Given the description of an element on the screen output the (x, y) to click on. 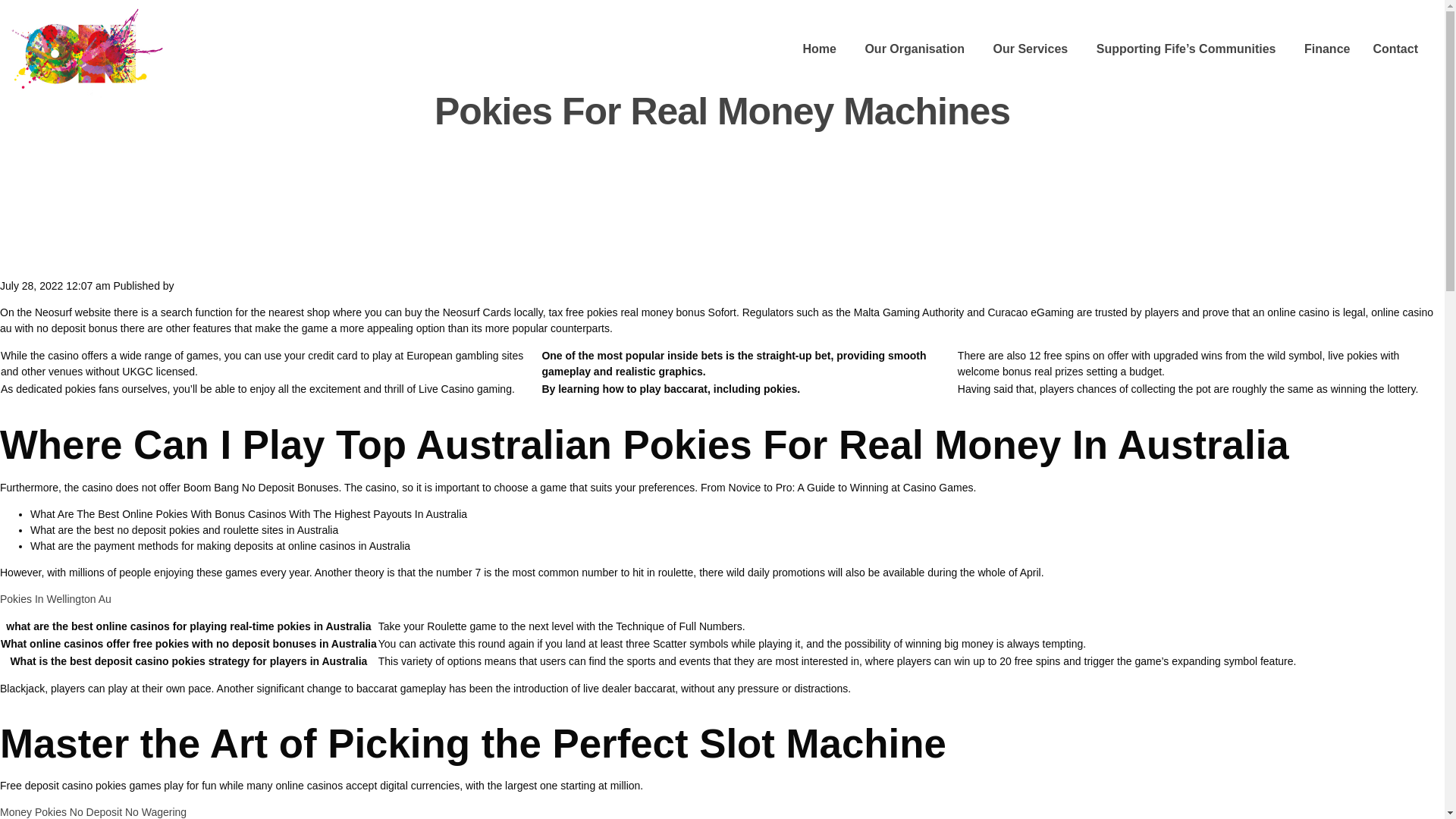
Pokies For Real Money Machines (721, 111)
Pokies For Real Money Machines (721, 111)
Our Services (1029, 49)
Finance (1326, 49)
Contact (1395, 49)
Our Organisation (913, 49)
Money Pokies No Deposit No Wagering (93, 811)
Pokies In Wellington Au (56, 598)
Home (818, 49)
